Given the description of an element on the screen output the (x, y) to click on. 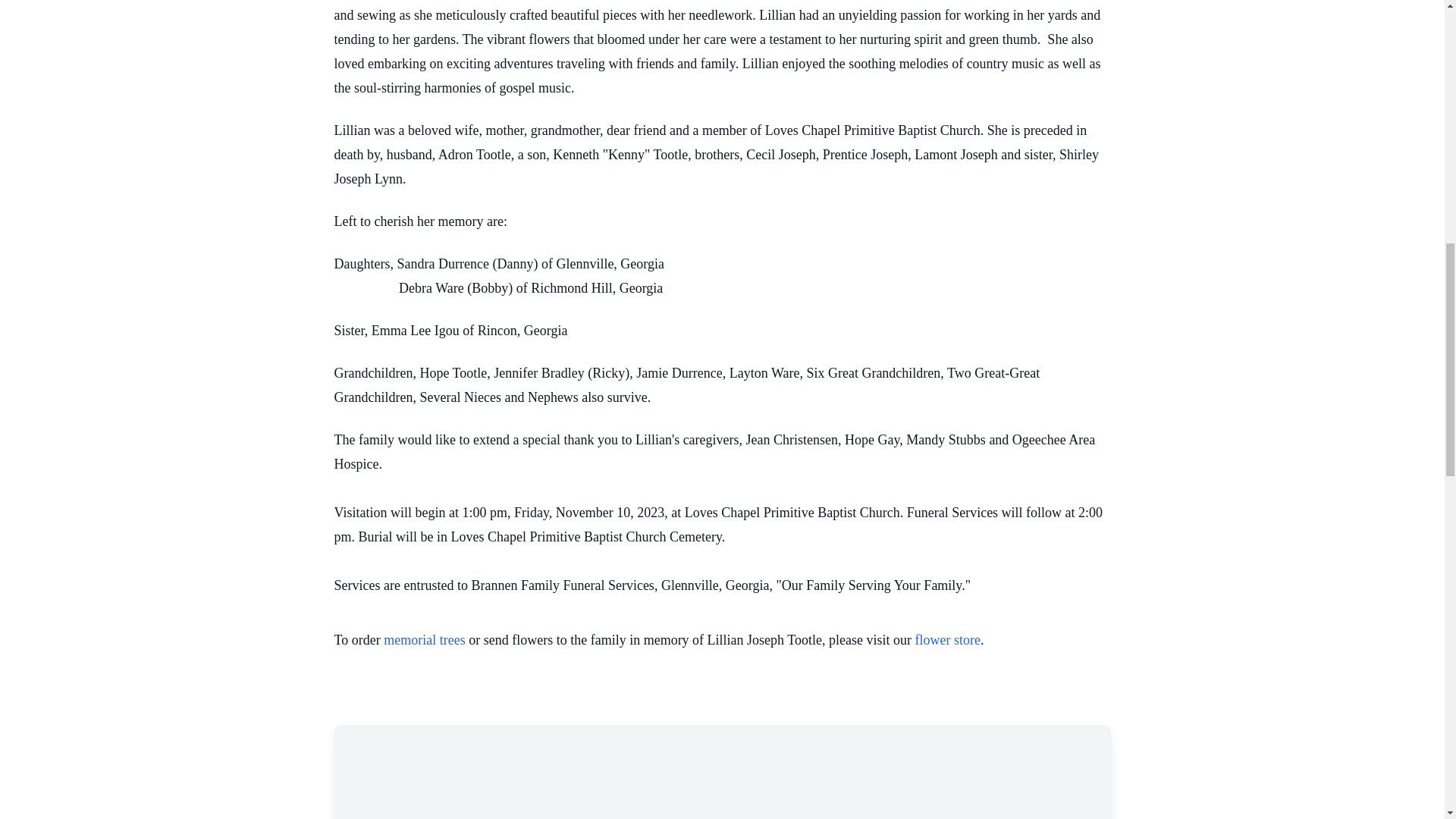
memorial trees (424, 639)
flower store (946, 639)
